Given the description of an element on the screen output the (x, y) to click on. 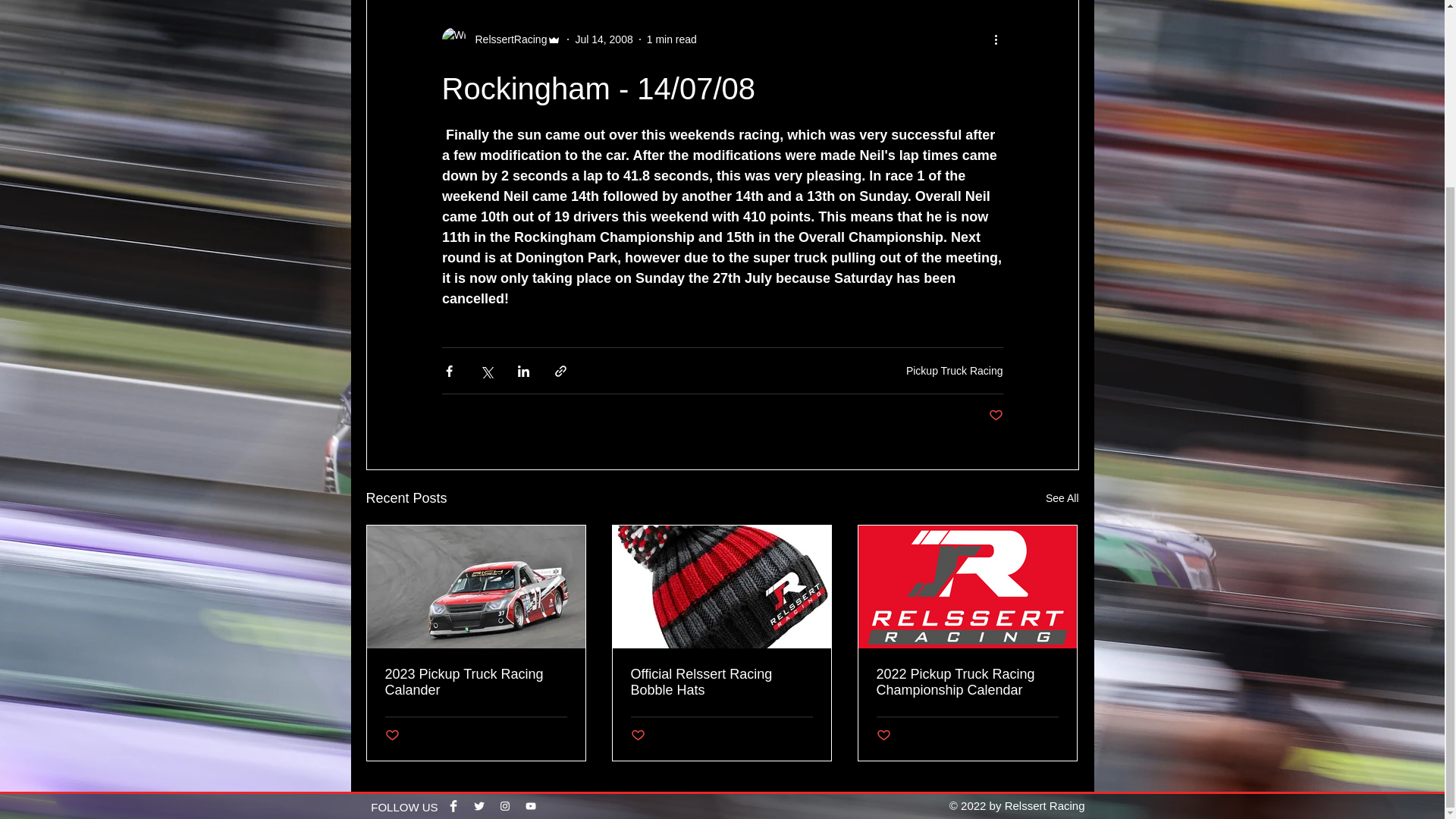
RelssertRacing (506, 39)
Post not marked as liked (883, 735)
See All (1061, 498)
1 min read (671, 39)
Official Relssert Racing Bobble Hats (721, 682)
Post not marked as liked (391, 735)
Jul 14, 2008 (603, 39)
Post not marked as liked (637, 735)
2023 Pickup Truck Racing Calander (476, 682)
2022 Pickup Truck Racing Championship Calendar (967, 682)
